Given the description of an element on the screen output the (x, y) to click on. 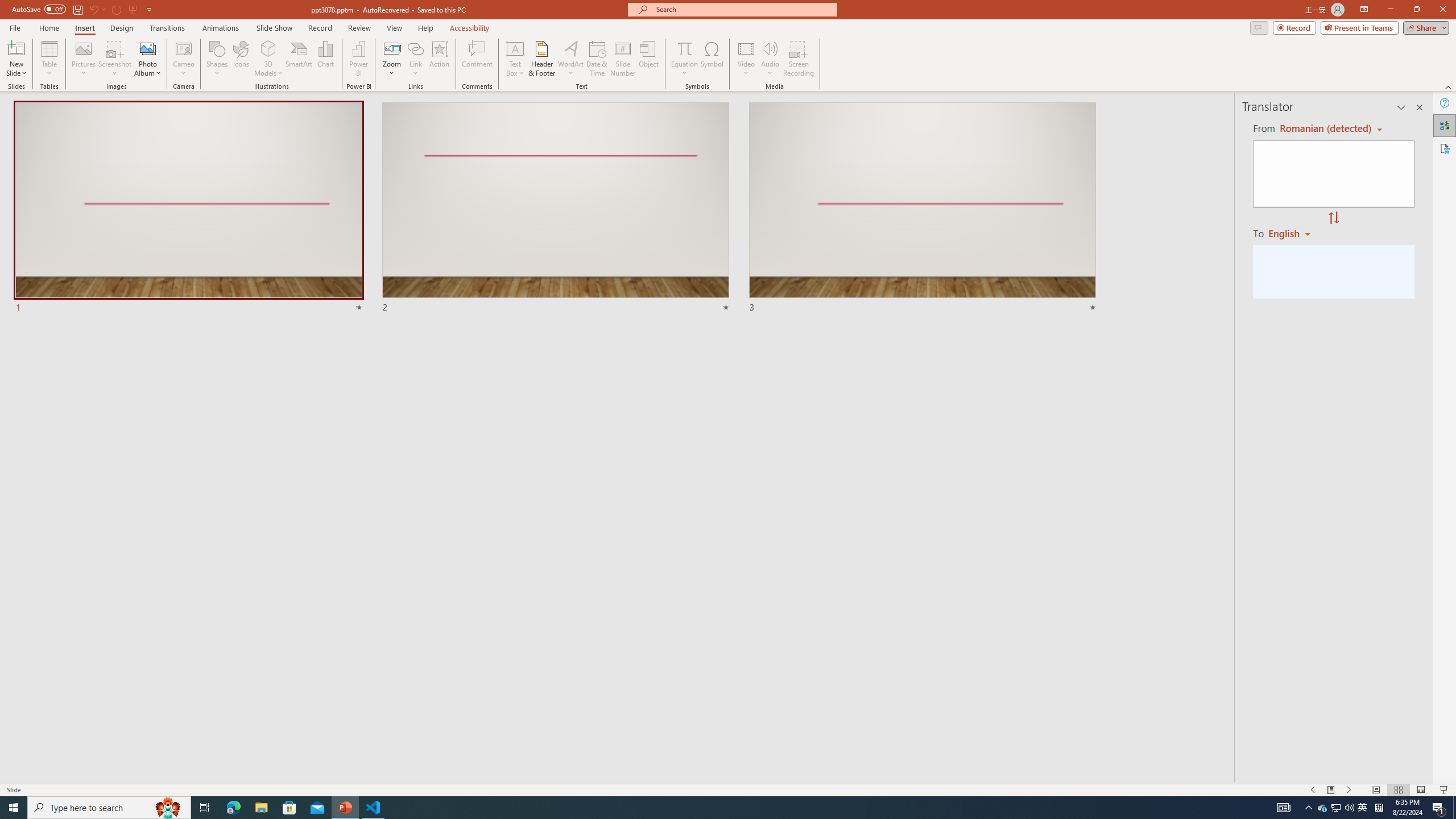
Slide Show Next On (1349, 790)
Czech (detected) (1323, 128)
Table (49, 58)
